Given the description of an element on the screen output the (x, y) to click on. 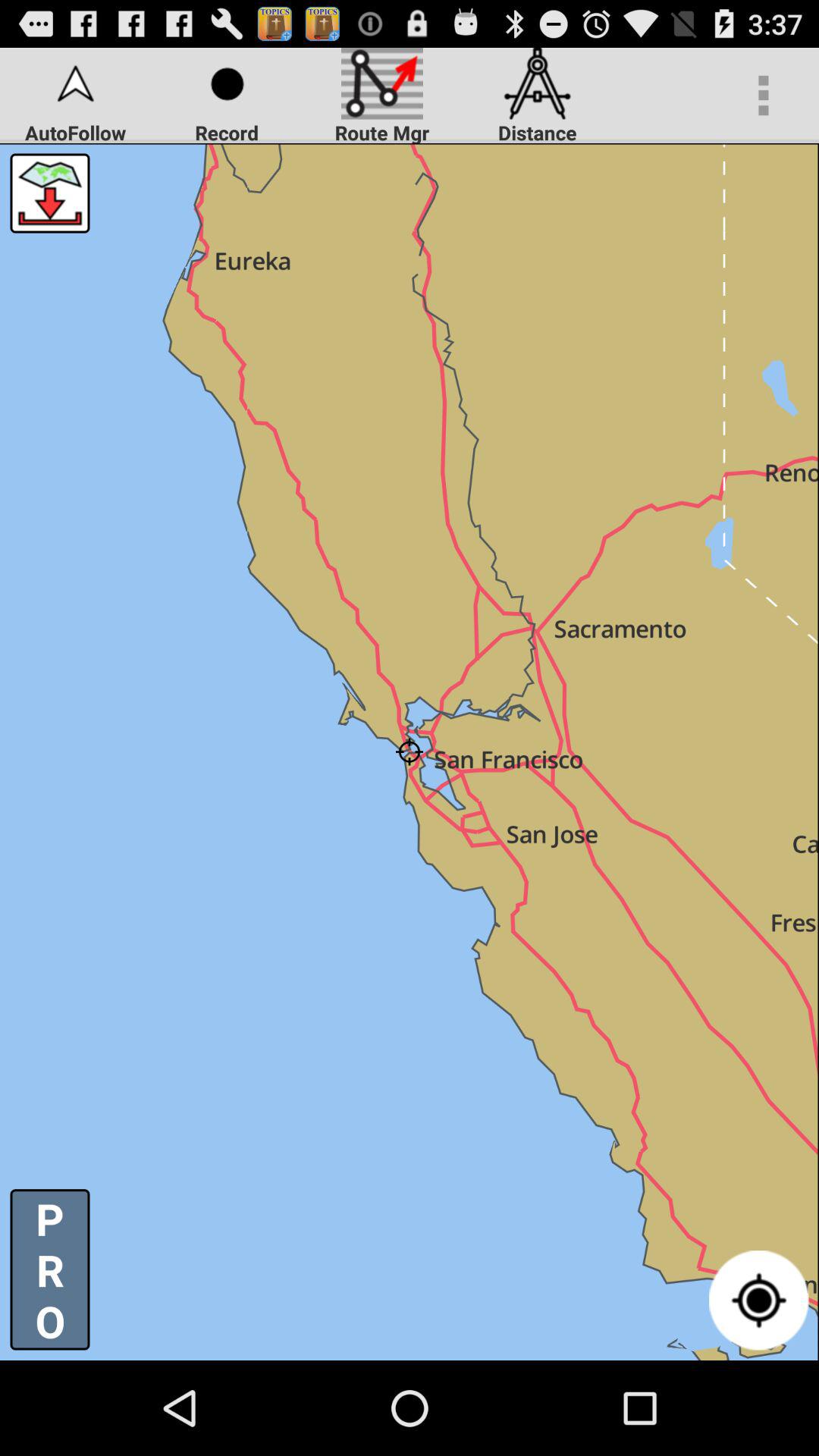
turn off the icon below autofollow item (49, 193)
